Given the description of an element on the screen output the (x, y) to click on. 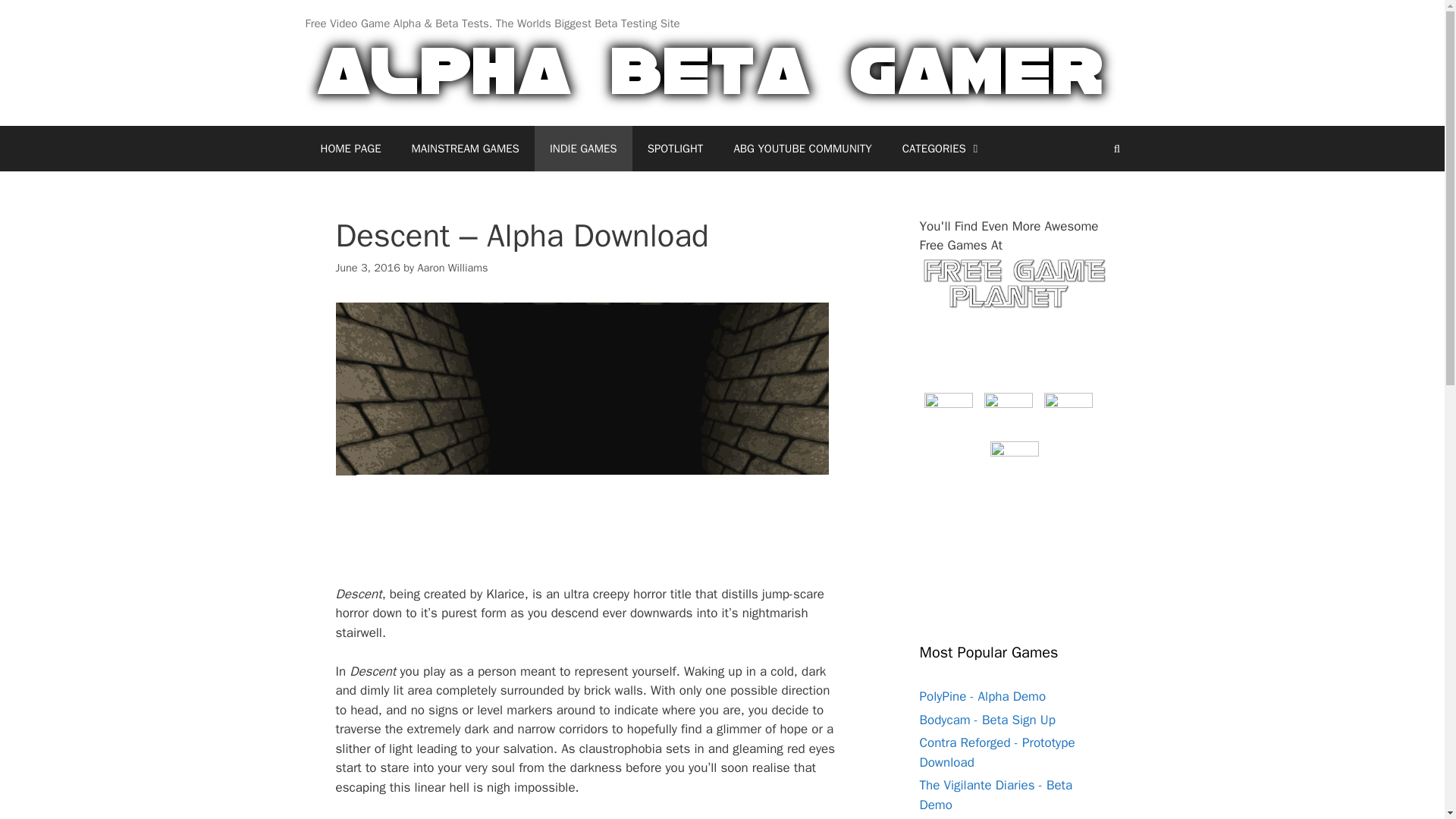
HOME PAGE (350, 148)
View all posts by Aaron Williams (451, 267)
SPOTLIGHT (675, 148)
ABG YOUTUBE COMMUNITY (801, 148)
INDIE GAMES (582, 148)
CATEGORIES (941, 148)
MAINSTREAM GAMES (465, 148)
